Given the description of an element on the screen output the (x, y) to click on. 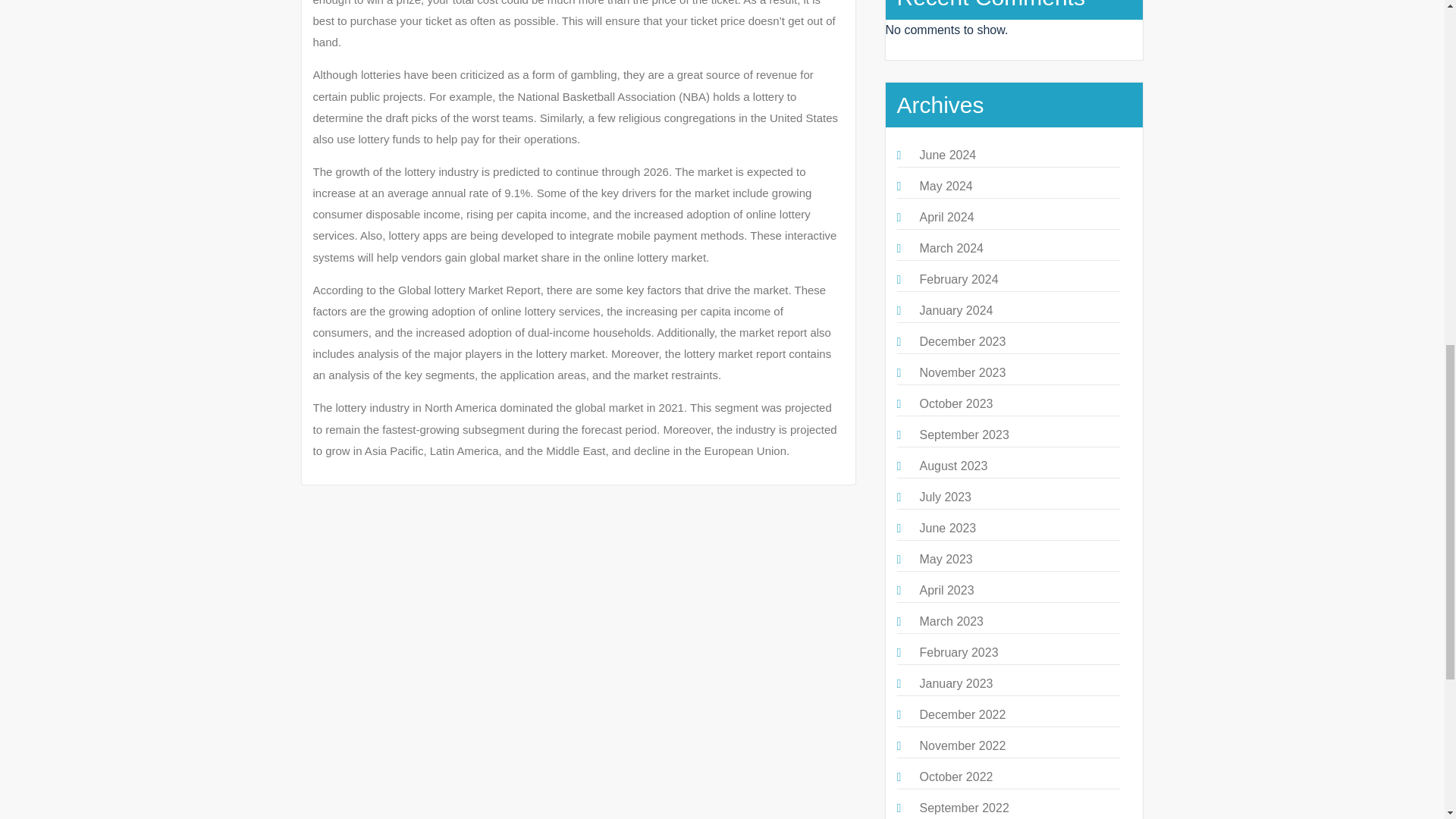
May 2024 (945, 185)
April 2023 (946, 590)
November 2022 (962, 745)
October 2022 (955, 776)
June 2024 (946, 154)
February 2023 (957, 652)
January 2024 (955, 309)
September 2022 (963, 807)
April 2024 (946, 216)
December 2023 (962, 341)
March 2023 (951, 621)
February 2024 (957, 278)
July 2023 (944, 496)
May 2023 (945, 558)
December 2022 (962, 714)
